Given the description of an element on the screen output the (x, y) to click on. 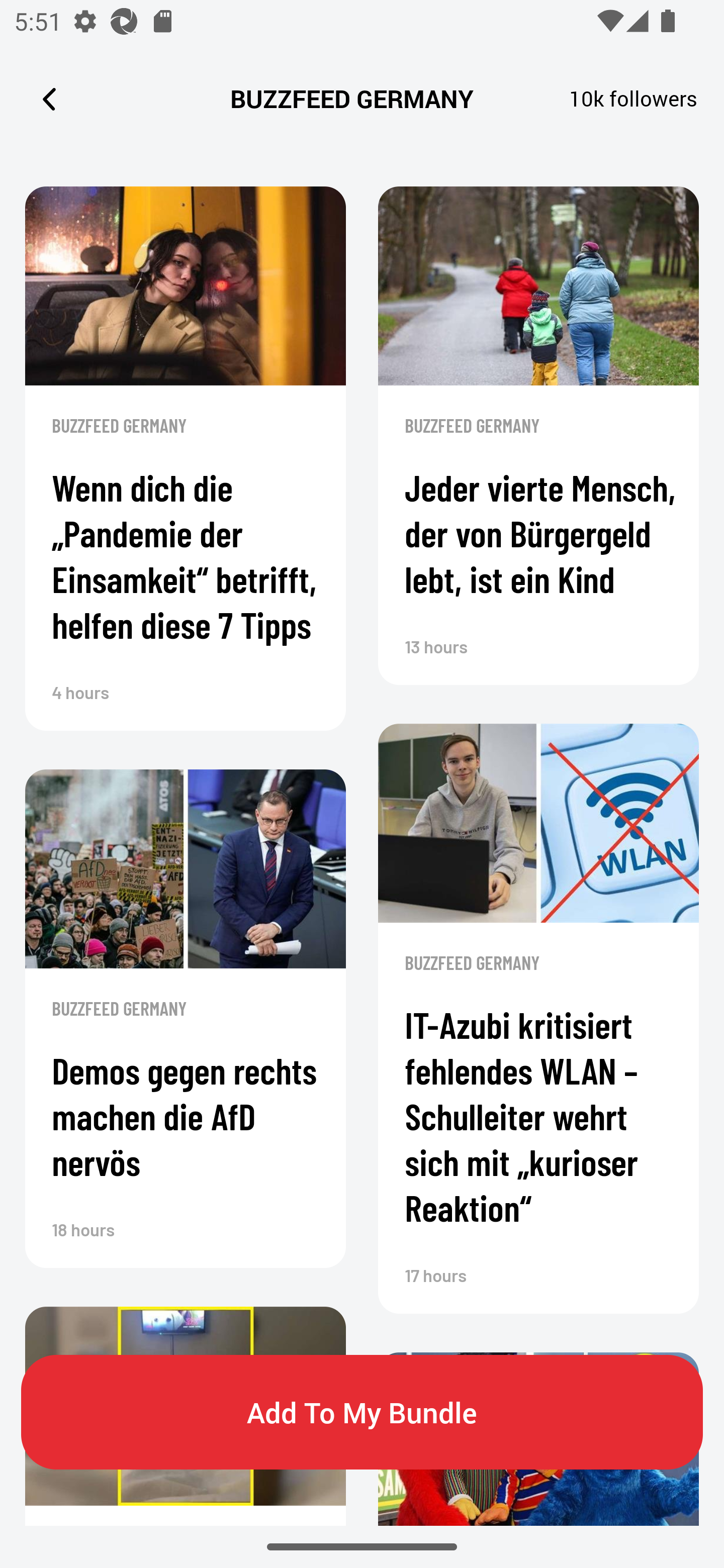
Leading Icon (49, 98)
Add To My Bundle (361, 1411)
